Given the description of an element on the screen output the (x, y) to click on. 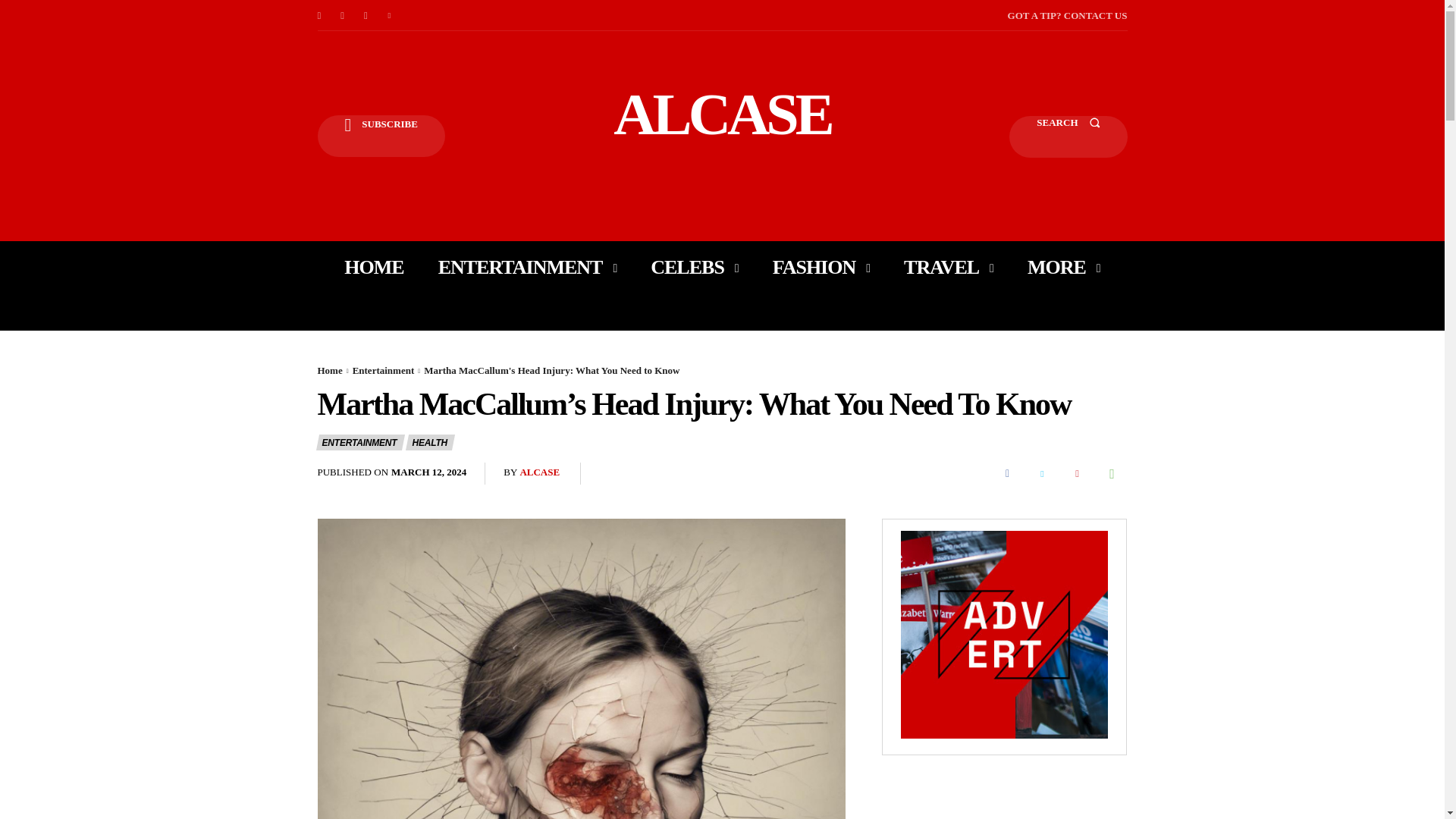
ALCASE (722, 113)
SEARCH (1067, 137)
GOT A TIP? CONTACT US (1066, 15)
Instagram (342, 15)
Twitter (389, 15)
SUBSCRIBE (380, 136)
Facebook (318, 15)
TikTok (366, 15)
